Given the description of an element on the screen output the (x, y) to click on. 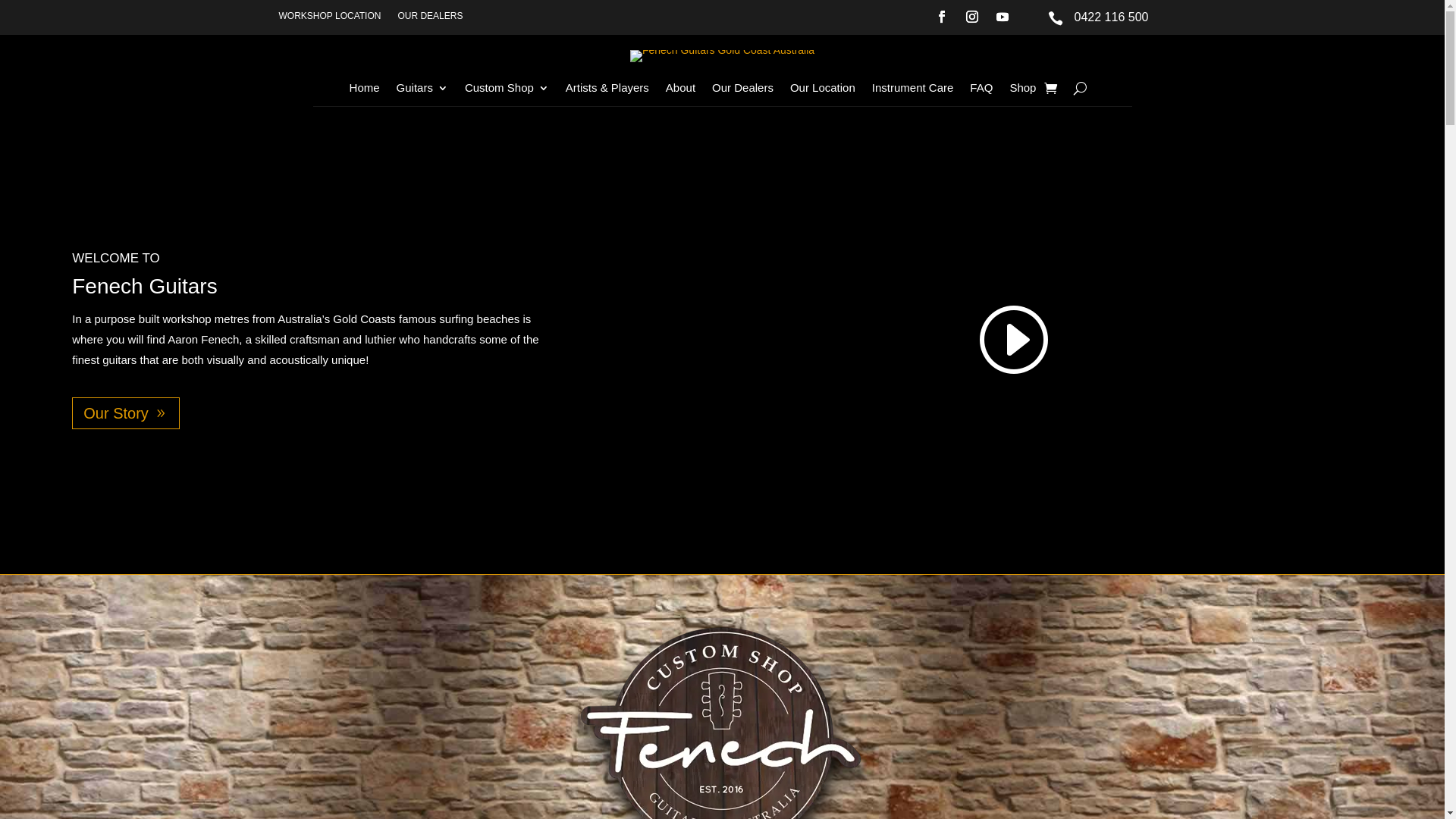
Guitars Element type: text (422, 90)
Artists & Players Element type: text (607, 90)
WORKSHOP LOCATION Element type: text (330, 18)
Follow on Facebook Element type: hover (941, 16)
FenechGuitars-LOGO Element type: hover (722, 56)
Our Dealers Element type: text (742, 90)
FAQ Element type: text (980, 90)
About Element type: text (680, 90)
Home Element type: text (364, 90)
Follow on Youtube Element type: hover (1002, 16)
Our Story Element type: text (125, 413)
OUR DEALERS Element type: text (429, 18)
Custom Shop Element type: text (506, 90)
Our Location Element type: text (822, 90)
Follow on Instagram Element type: hover (972, 16)
Shop Element type: text (1022, 90)
Instrument Care Element type: text (912, 90)
